Given the description of an element on the screen output the (x, y) to click on. 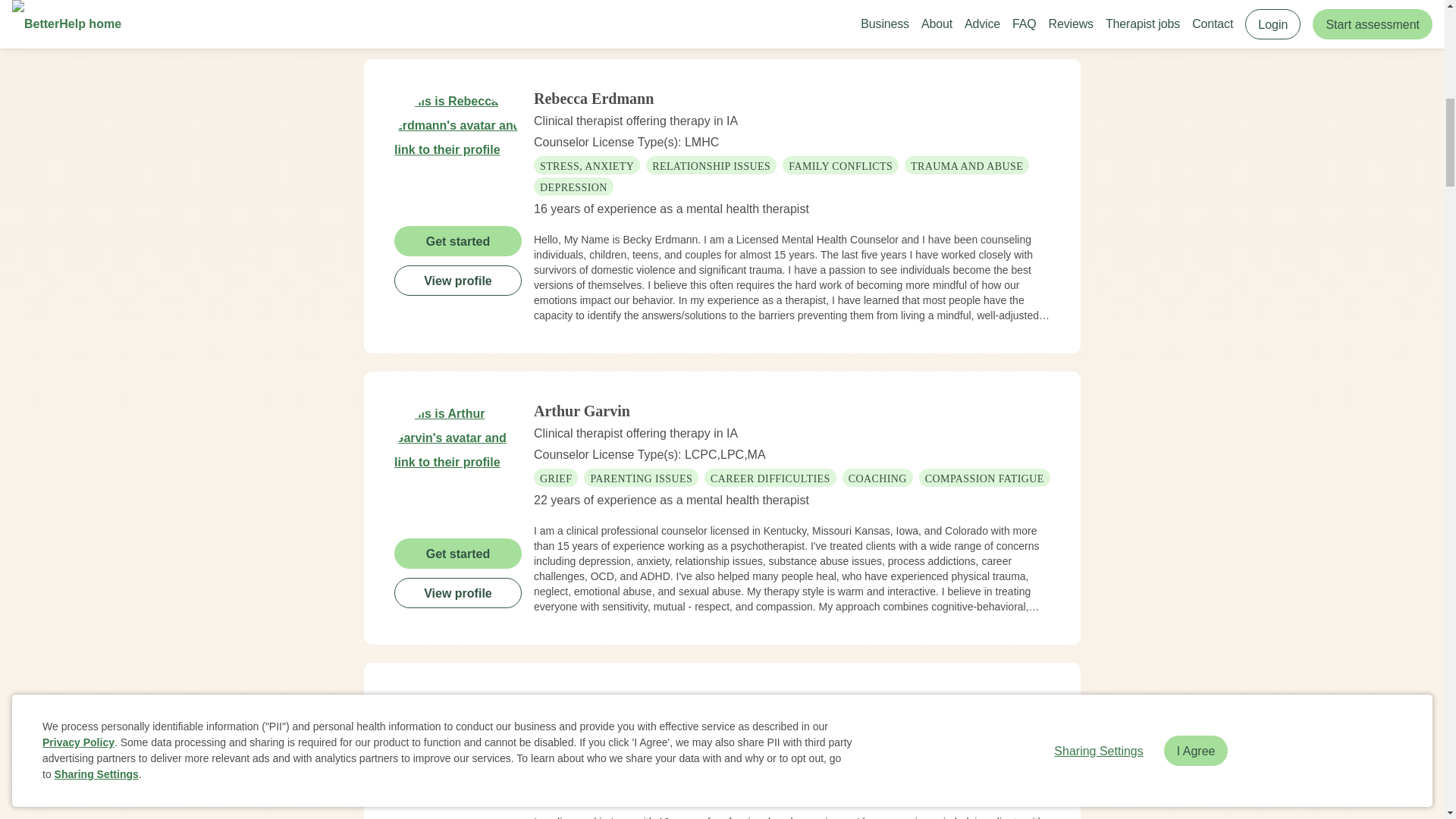
Click here to view Rebecca Erdmann's profile 1 (457, 153)
Click here to view Darissa Chance's profile 1 (457, 755)
Click here to view Arthur Garvin's profile 1 (457, 465)
View profile (457, 280)
